Given the description of an element on the screen output the (x, y) to click on. 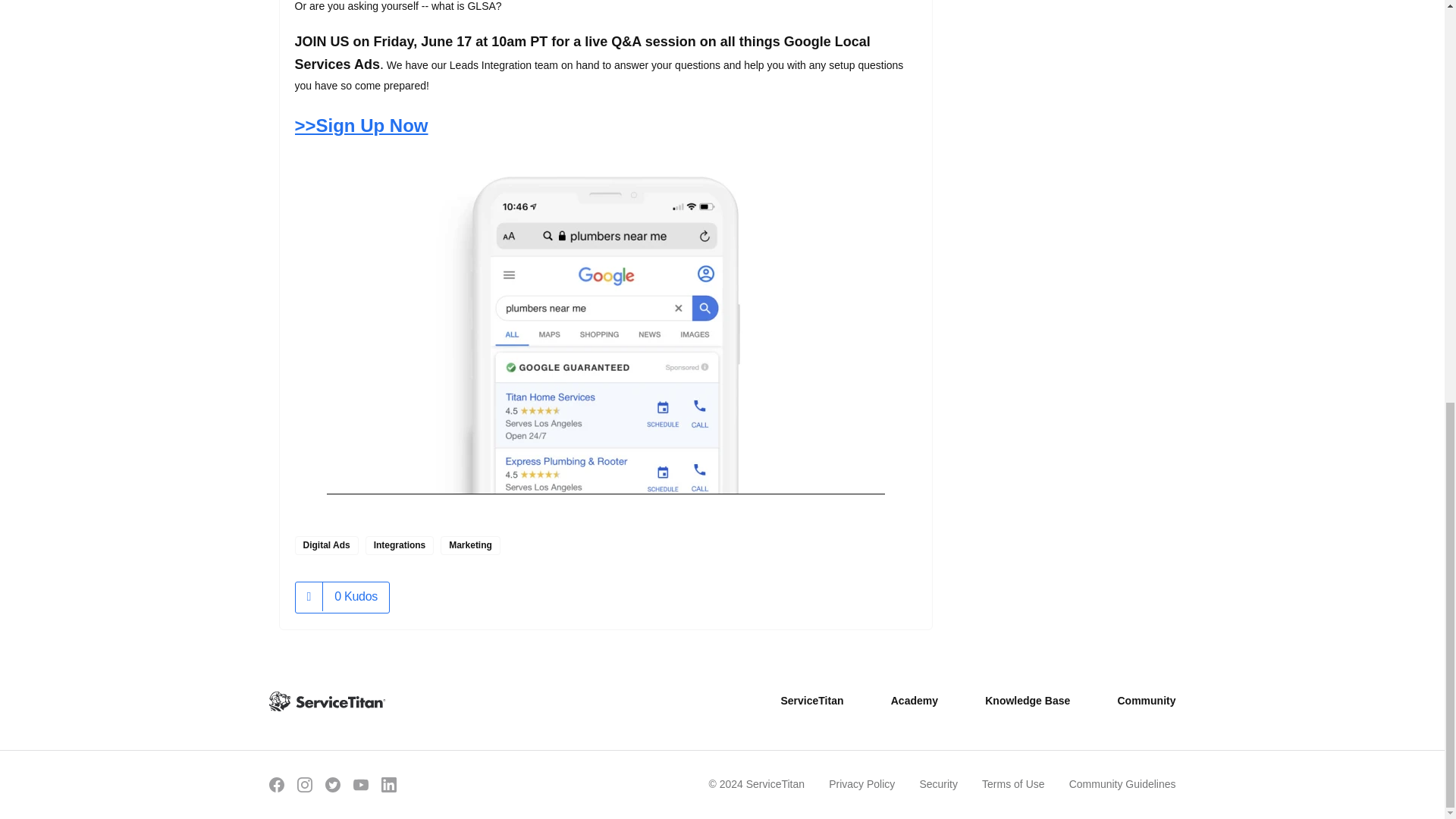
Click here to give kudos to this post. (309, 596)
The total number of kudos this post has received. (355, 597)
